Given the description of an element on the screen output the (x, y) to click on. 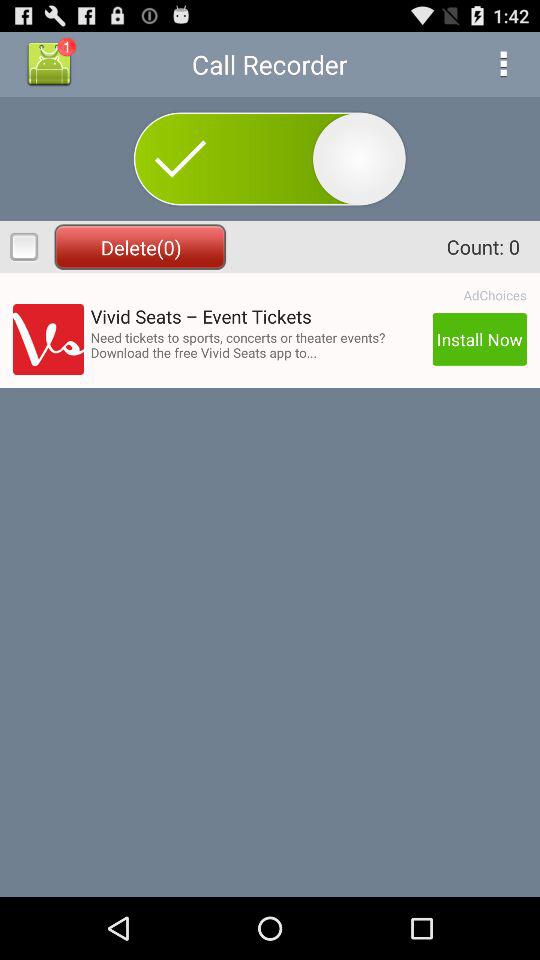
turn on icon to the left of the call recorder app (49, 63)
